Given the description of an element on the screen output the (x, y) to click on. 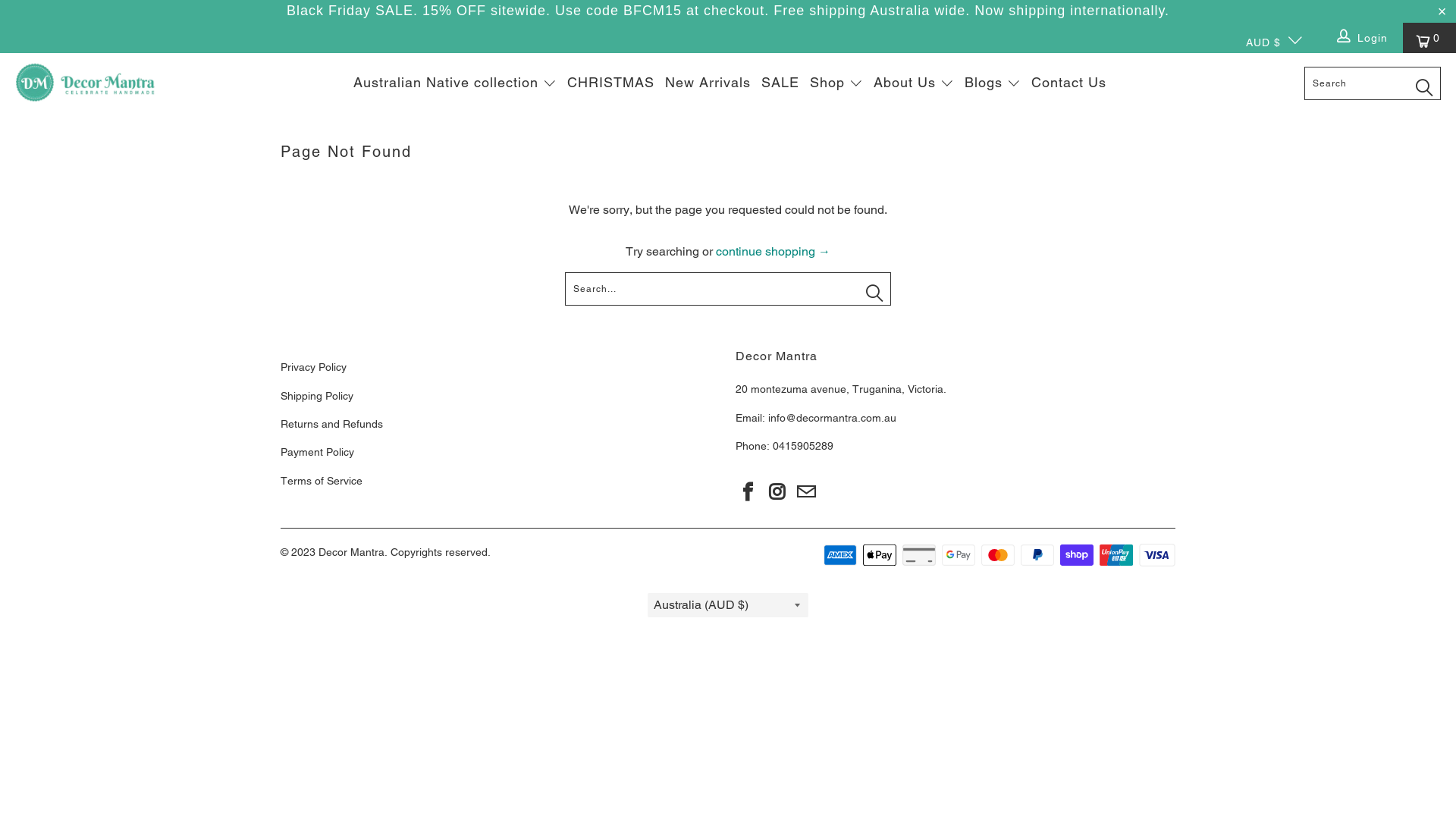
SALE Element type: text (780, 82)
Contact Us Element type: text (1068, 82)
 0415905289 Element type: text (801, 445)
About Us Element type: text (913, 83)
Email Decor Mantra Element type: hover (806, 489)
info@decormantra.com.au Element type: text (832, 417)
Shop Element type: text (835, 83)
AUD $ Element type: text (1267, 37)
CHRISTMAS Element type: text (610, 82)
Decor Mantra Element type: hover (85, 83)
Payment Policy Element type: text (317, 451)
Shipping Policy Element type: text (316, 395)
New Arrivals Element type: text (707, 82)
Terms of Service Element type: text (321, 480)
Login Element type: text (1362, 37)
Decor Mantra on Instagram Element type: hover (777, 489)
Australian Native collection Element type: text (454, 83)
Blogs Element type: text (992, 83)
Privacy Policy Element type: text (313, 366)
Decor Mantra on Facebook Element type: hover (747, 489)
Returns and Refunds Element type: text (331, 423)
Decor Mantra Element type: text (351, 552)
